Given the description of an element on the screen output the (x, y) to click on. 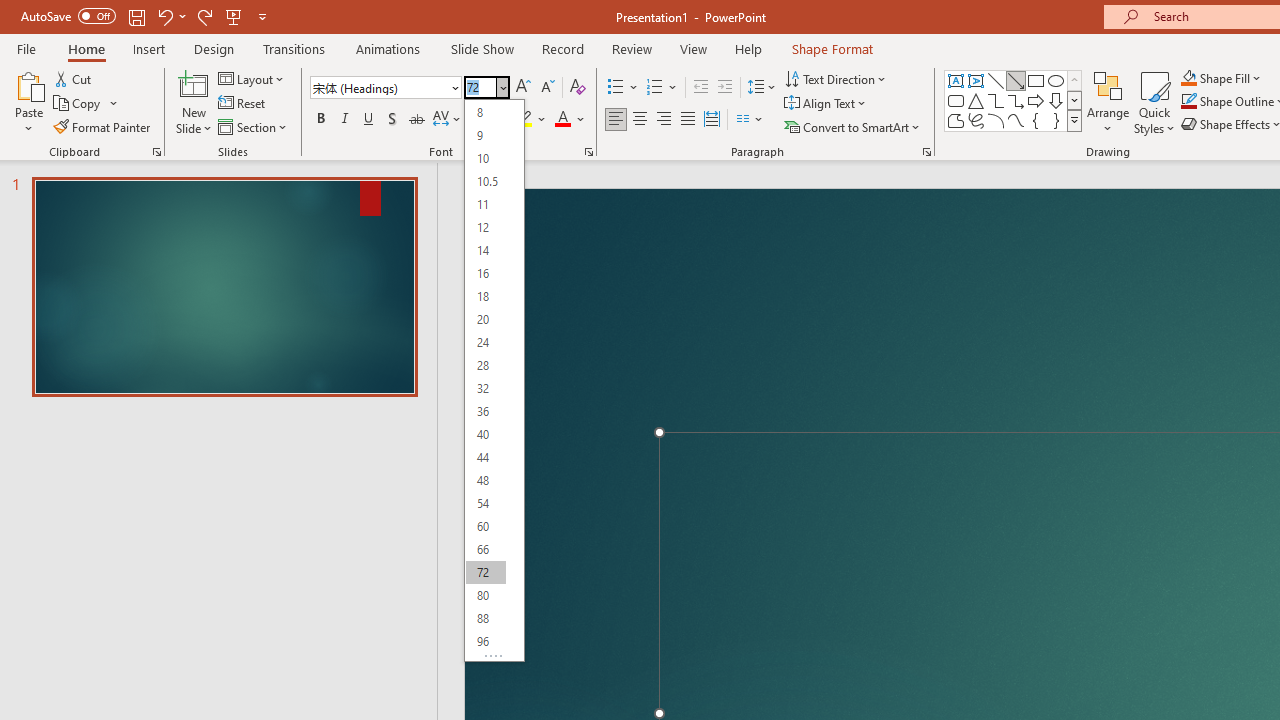
72 (485, 571)
20 (485, 319)
36 (485, 411)
